Given the description of an element on the screen output the (x, y) to click on. 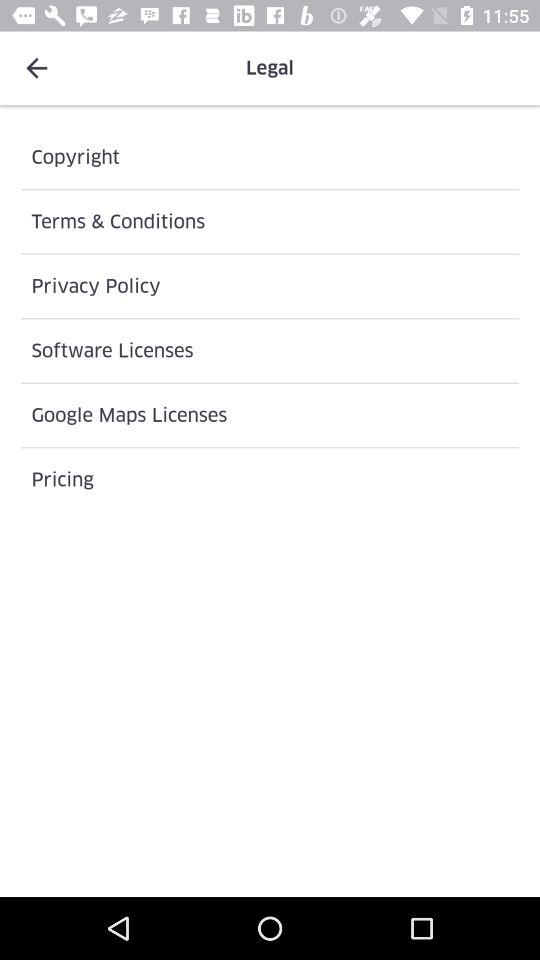
open the icon above software licenses icon (270, 286)
